Given the description of an element on the screen output the (x, y) to click on. 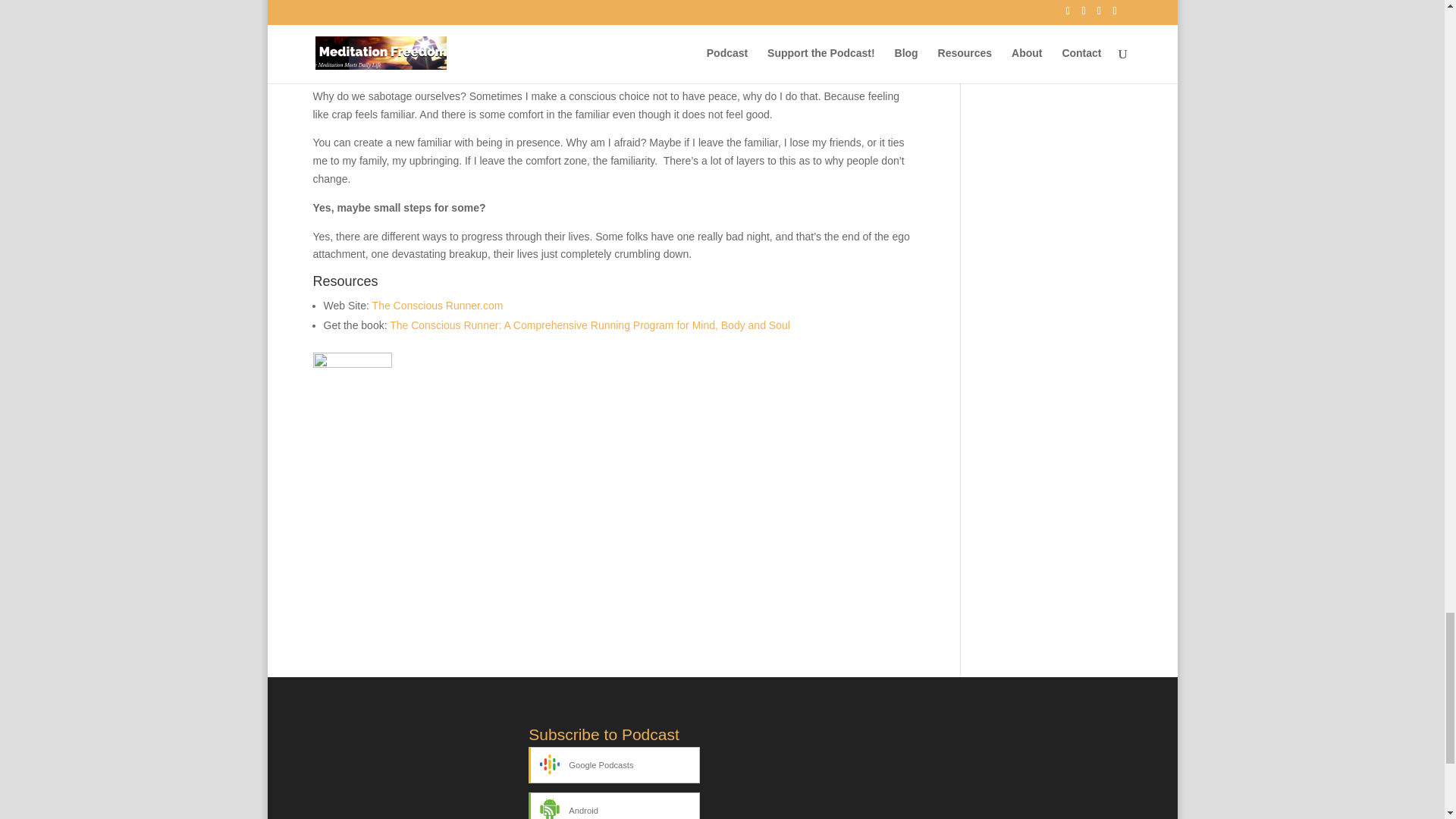
Subscribe on Android (613, 805)
Subscribe on Google Podcasts (613, 764)
The Conscious Runner.com (437, 305)
